Given the description of an element on the screen output the (x, y) to click on. 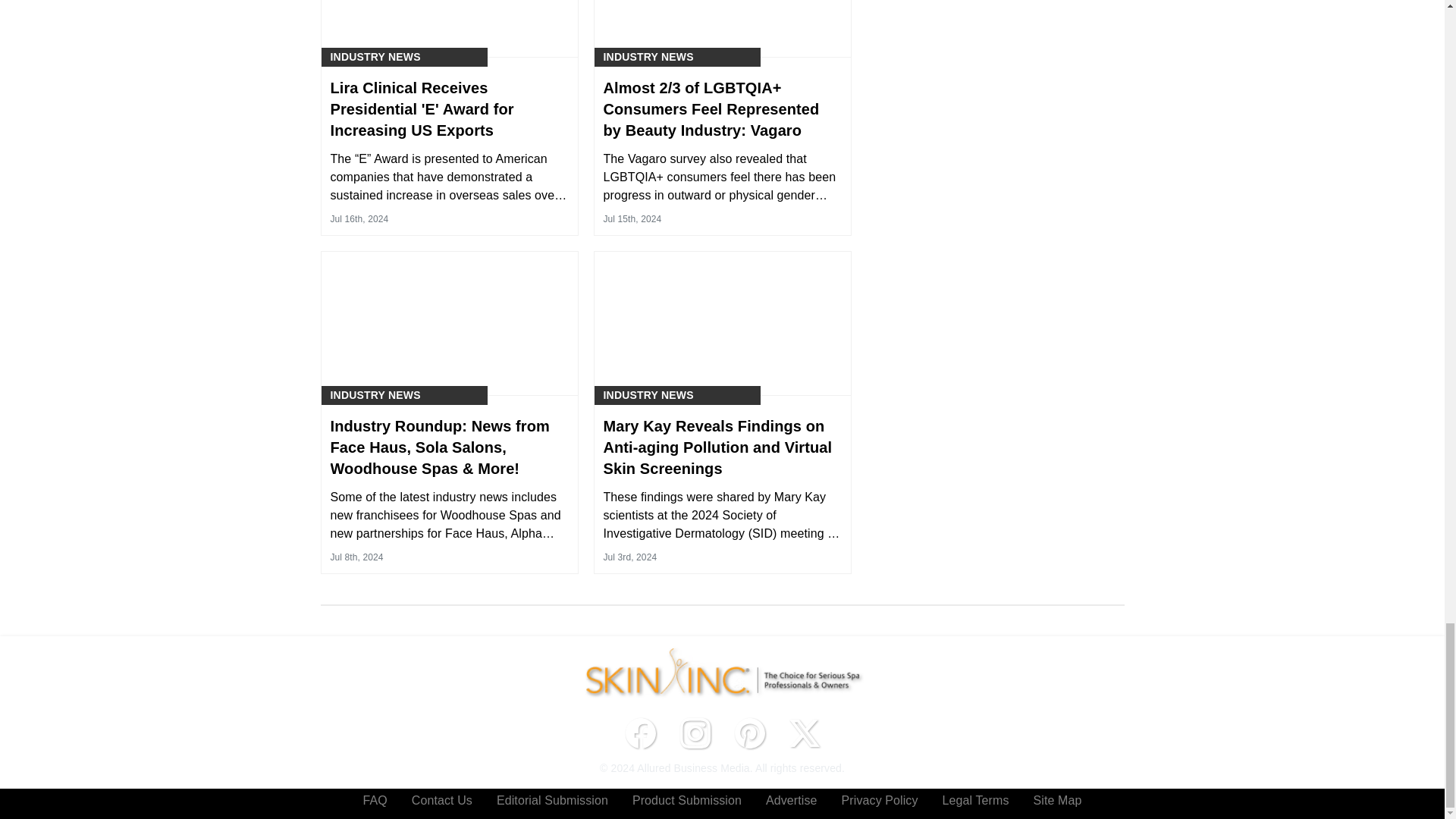
Pinterest icon (748, 733)
Twitter X icon (803, 733)
Facebook icon (639, 733)
Instagram icon (694, 733)
